Given the description of an element on the screen output the (x, y) to click on. 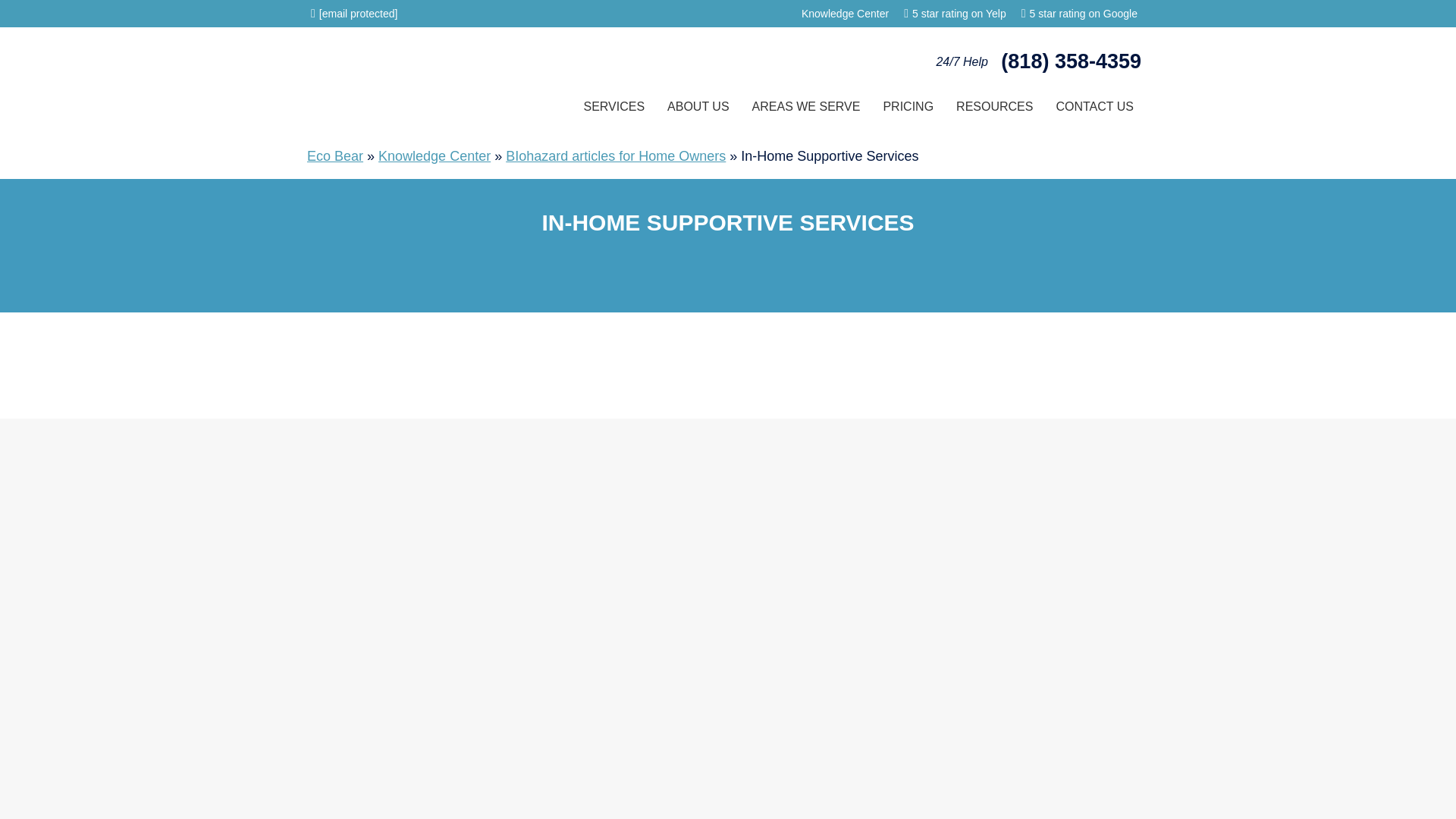
CONTACT US (1093, 106)
ABOUT US (698, 106)
5 star rating on Yelp (959, 13)
AREAS WE SERVE (806, 106)
Knowledge Center (845, 13)
5 star rating on Google (1083, 13)
SERVICES (614, 106)
PRICING (907, 106)
RESOURCES (993, 106)
